Given the description of an element on the screen output the (x, y) to click on. 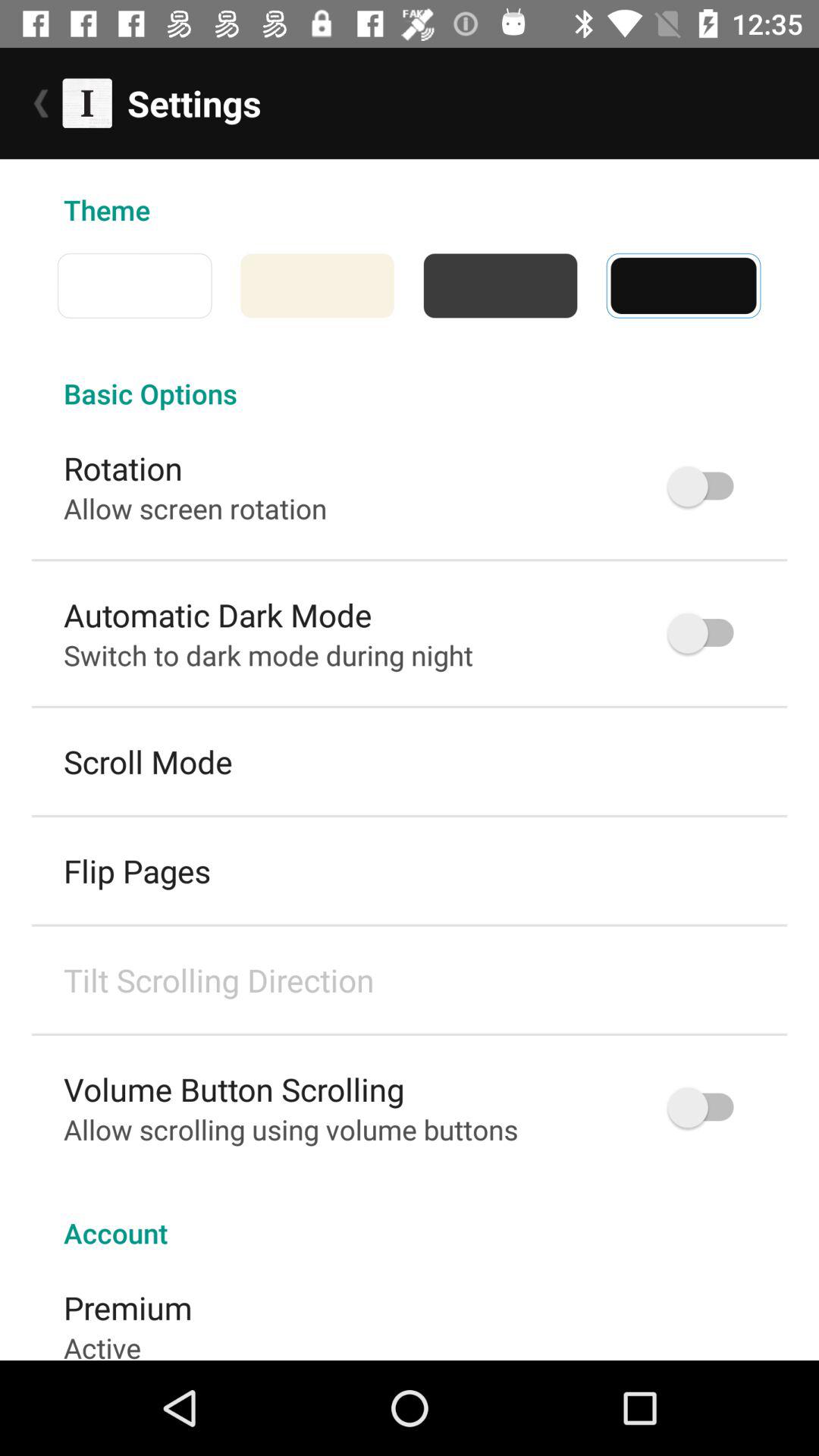
open the icon below allow scrolling using (409, 1216)
